Given the description of an element on the screen output the (x, y) to click on. 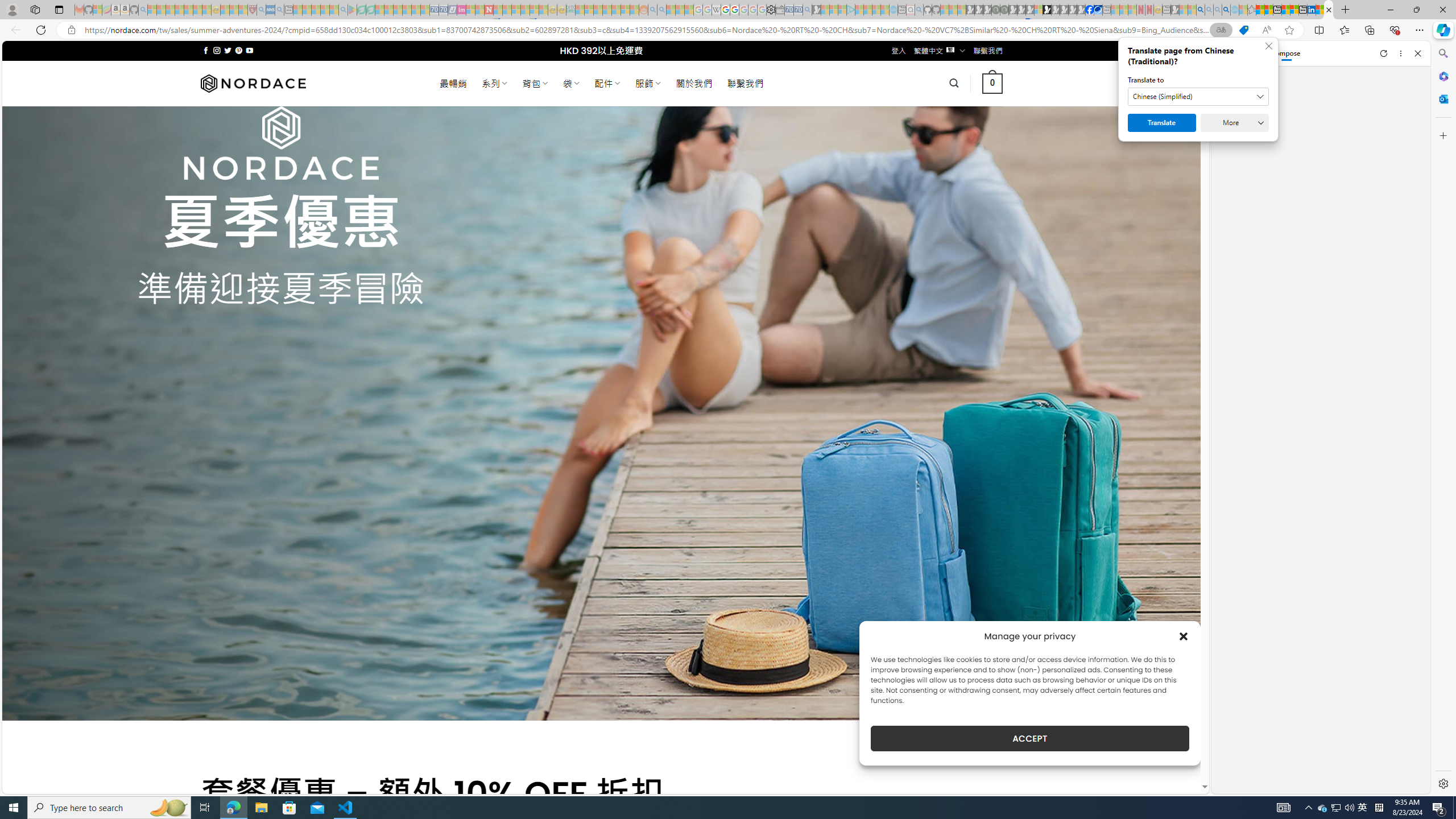
Future Focus Report 2024 - Sleeping (1004, 9)
Translate to (1198, 96)
Follow on YouTube (249, 50)
Follow on Twitter (227, 50)
